Given the description of an element on the screen output the (x, y) to click on. 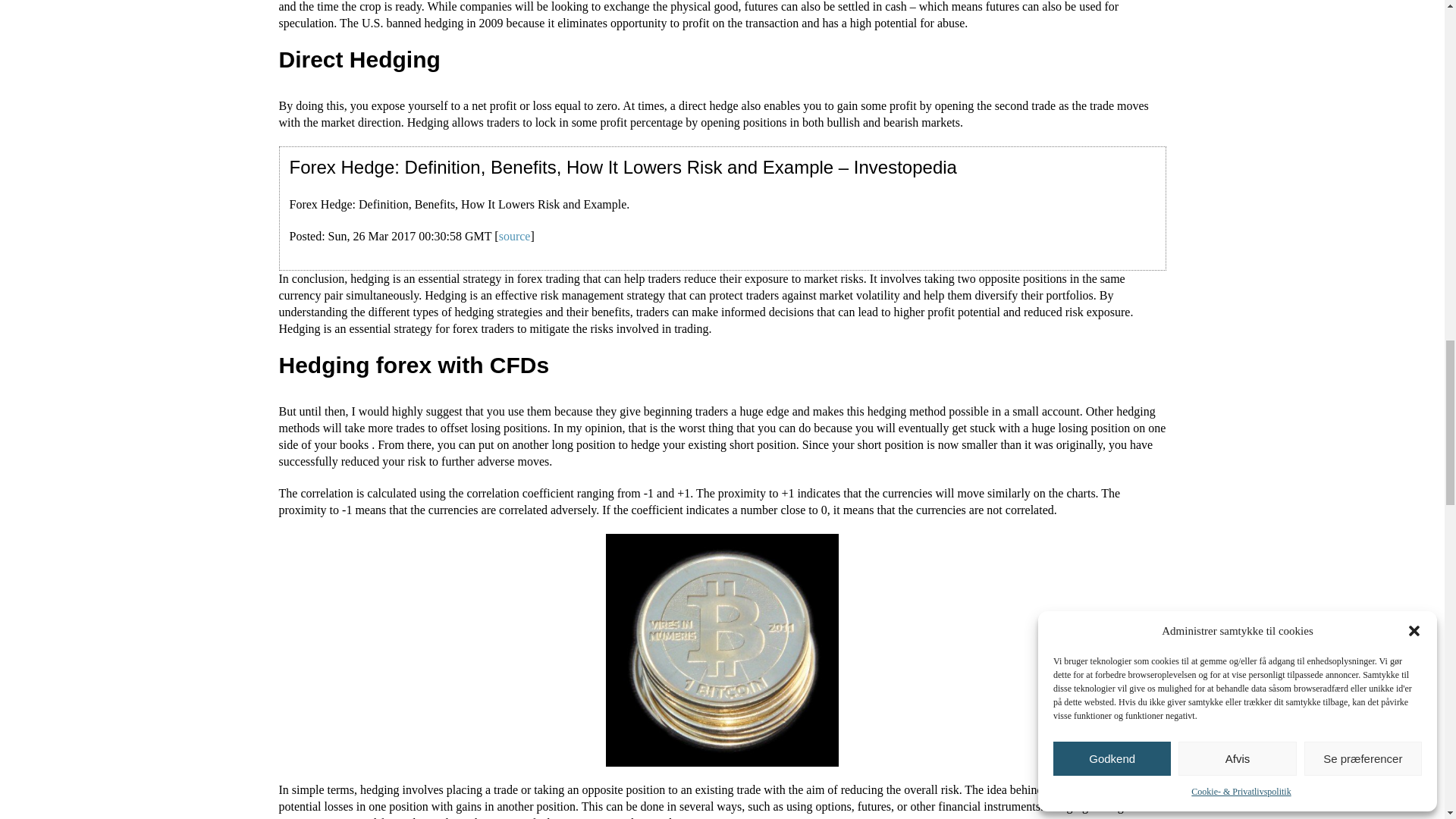
source (515, 236)
